Given the description of an element on the screen output the (x, y) to click on. 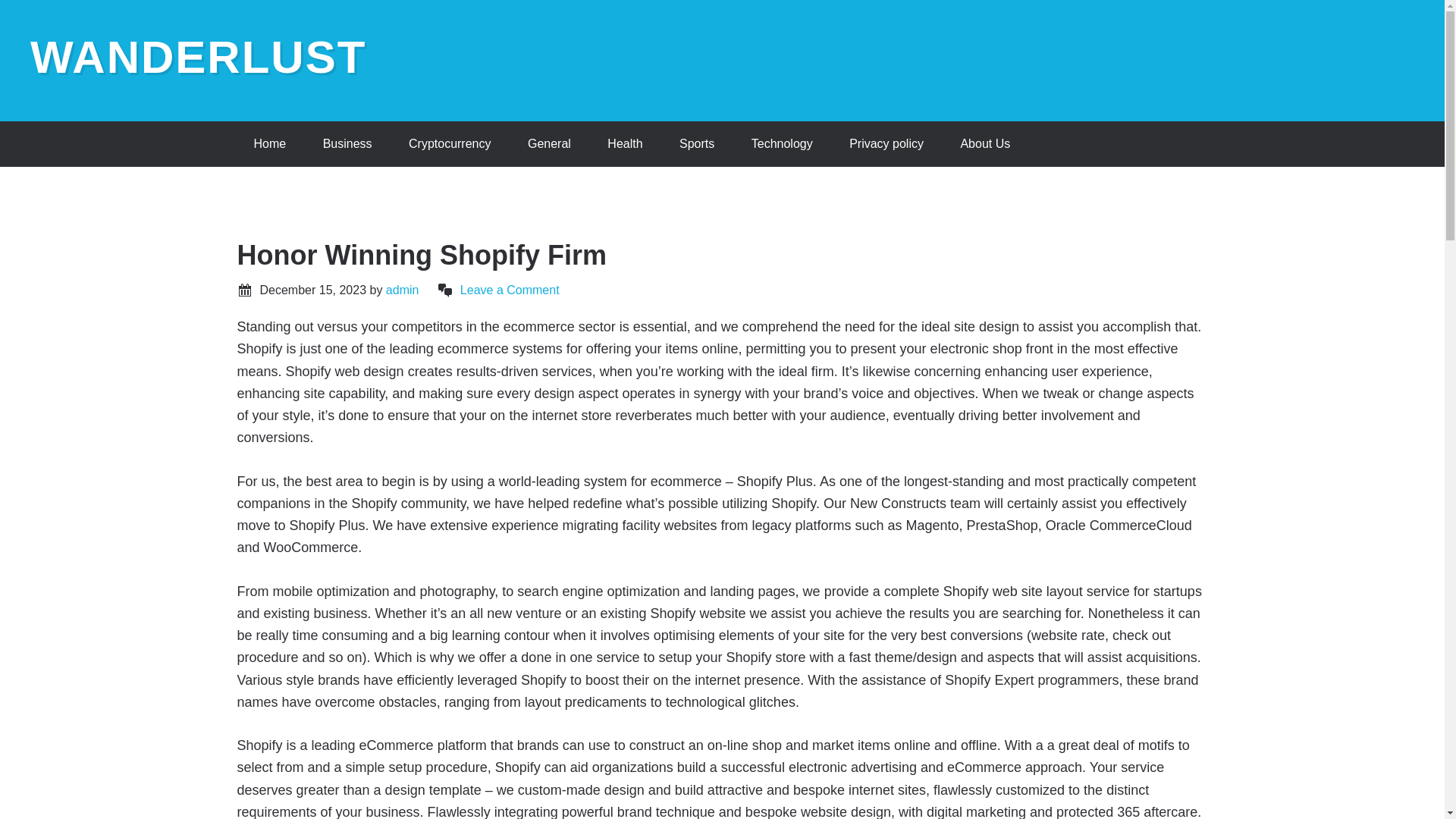
admin (402, 289)
Technology (782, 144)
Health (625, 144)
About Us (984, 144)
Sports (696, 144)
Cryptocurrency (448, 144)
Leave a Comment (509, 289)
Business (346, 144)
Home (268, 144)
Privacy policy (886, 144)
